Given the description of an element on the screen output the (x, y) to click on. 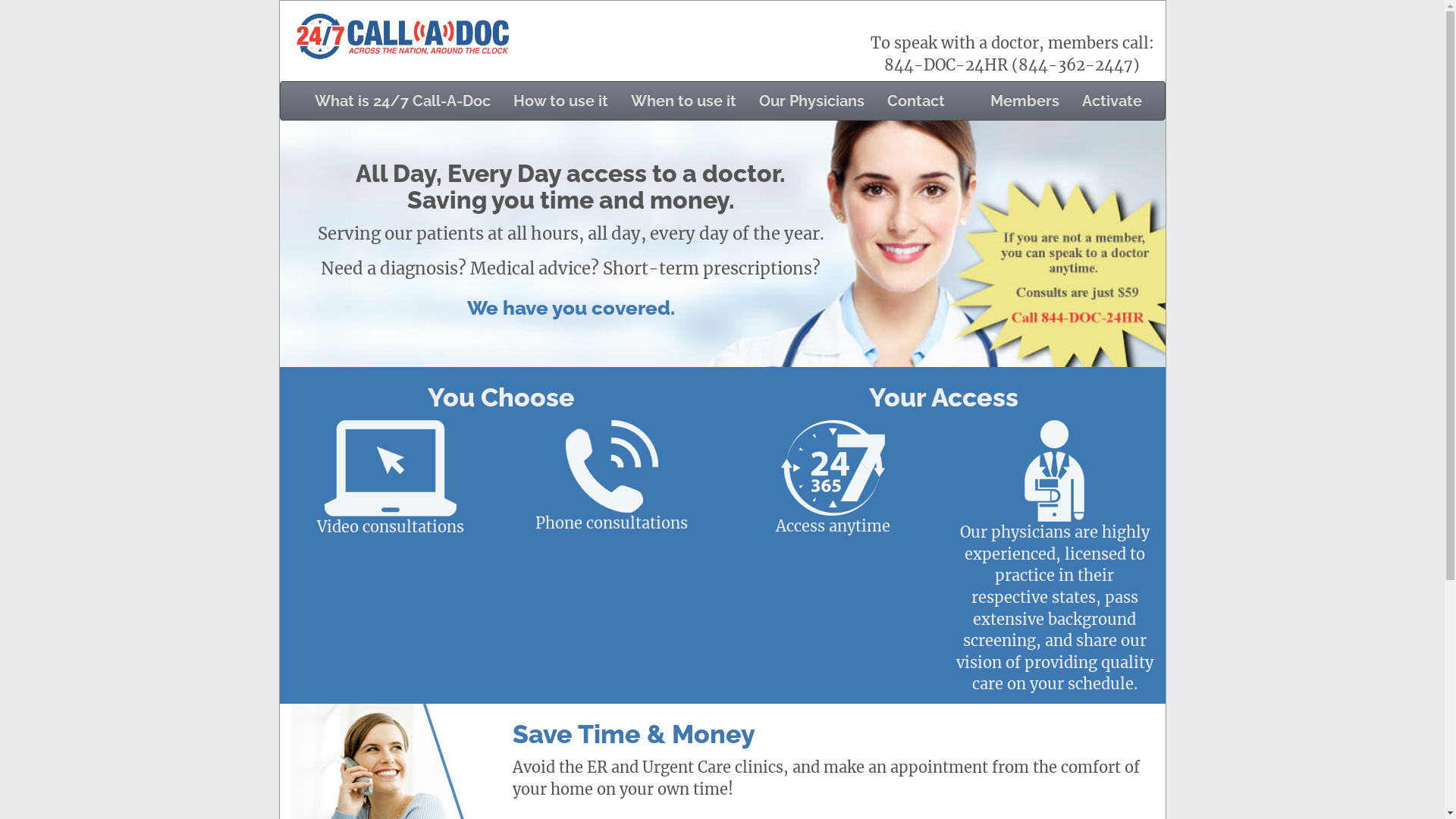
Our Physicians Element type: text (811, 100)
Activate Element type: text (1111, 100)
Contact Element type: text (915, 100)
When to use it Element type: text (682, 100)
How to use it Element type: text (560, 100)
Members Element type: text (1024, 100)
What is 24/7 Call-A-Doc Element type: text (402, 100)
